Given the description of an element on the screen output the (x, y) to click on. 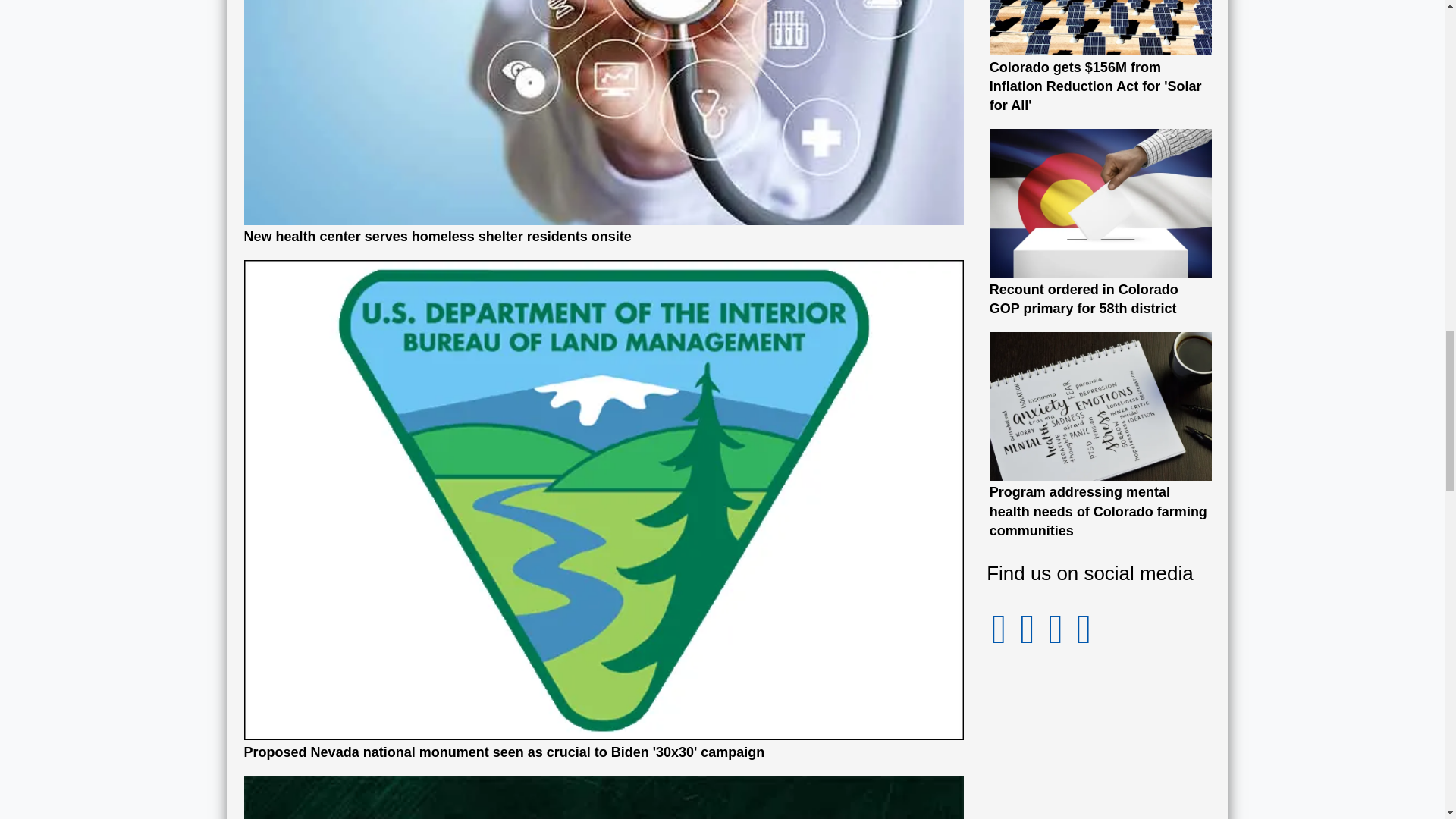
PROMO 64 Energy - Solar Panel Cell Photovoltaic Array - Wiki (1101, 28)
